Given the description of an element on the screen output the (x, y) to click on. 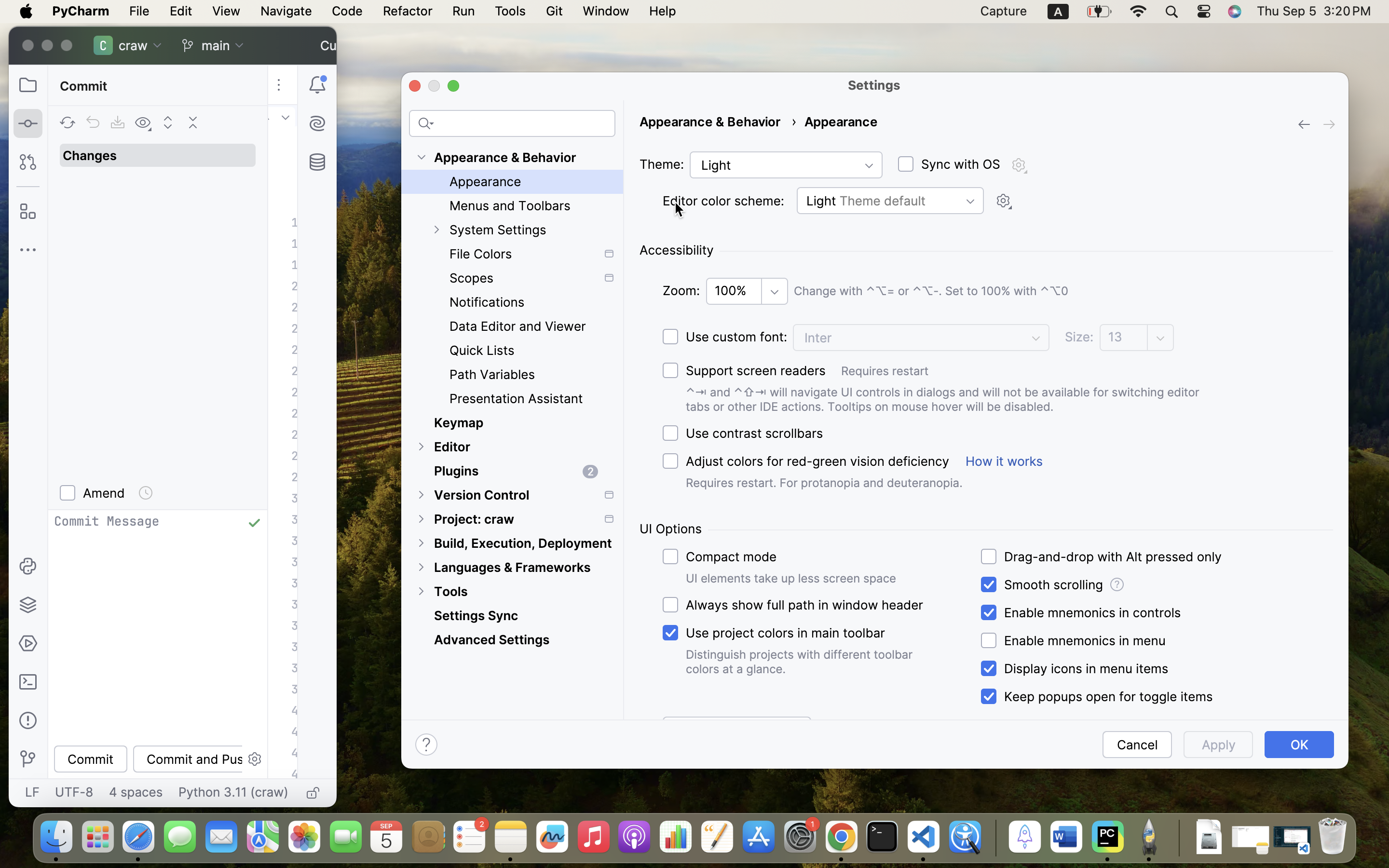
0 Element type: AXCheckBox (803, 461)
0.4285714328289032 Element type: AXDockItem (993, 837)
⌃⇥ and ⌃⇧⇥ will navigate UI controls in dialogs and will not be available for switching editor tabs or other IDE actions. Tooltips on mouse hover will be disabled. Element type: AXTextField (955, 398)
Size: Element type: AXStaticText (1078, 336)
100% Element type: AXComboBox (746, 290)
